Given the description of an element on the screen output the (x, y) to click on. 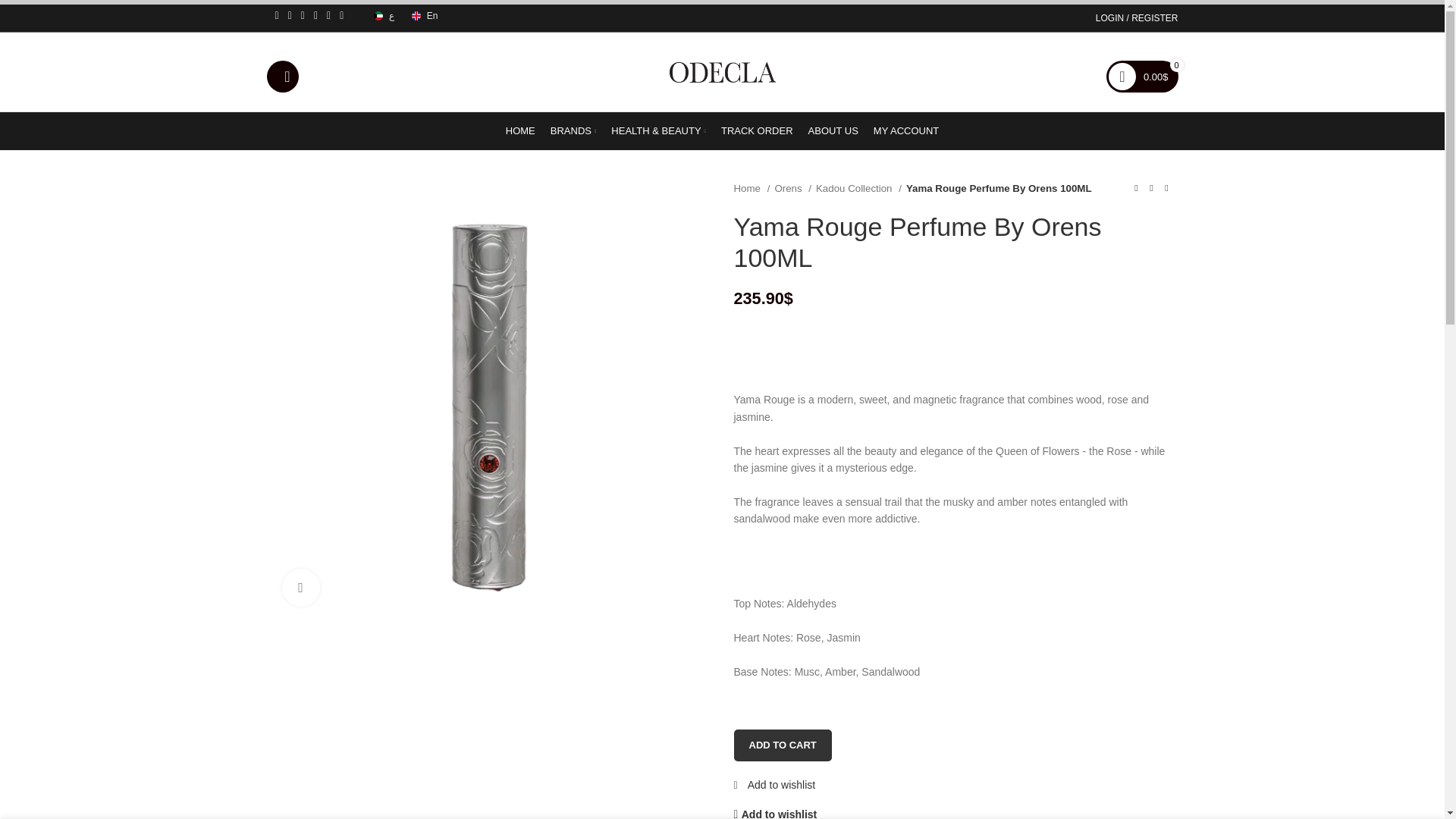
MY ACCOUNT (906, 131)
Orens (792, 188)
Home (751, 188)
BRANDS (573, 131)
TRACK ORDER (756, 131)
ABOUT US (833, 131)
My account (1137, 15)
Kadou Collection (858, 188)
Log in (1049, 246)
HOME (520, 131)
